Given the description of an element on the screen output the (x, y) to click on. 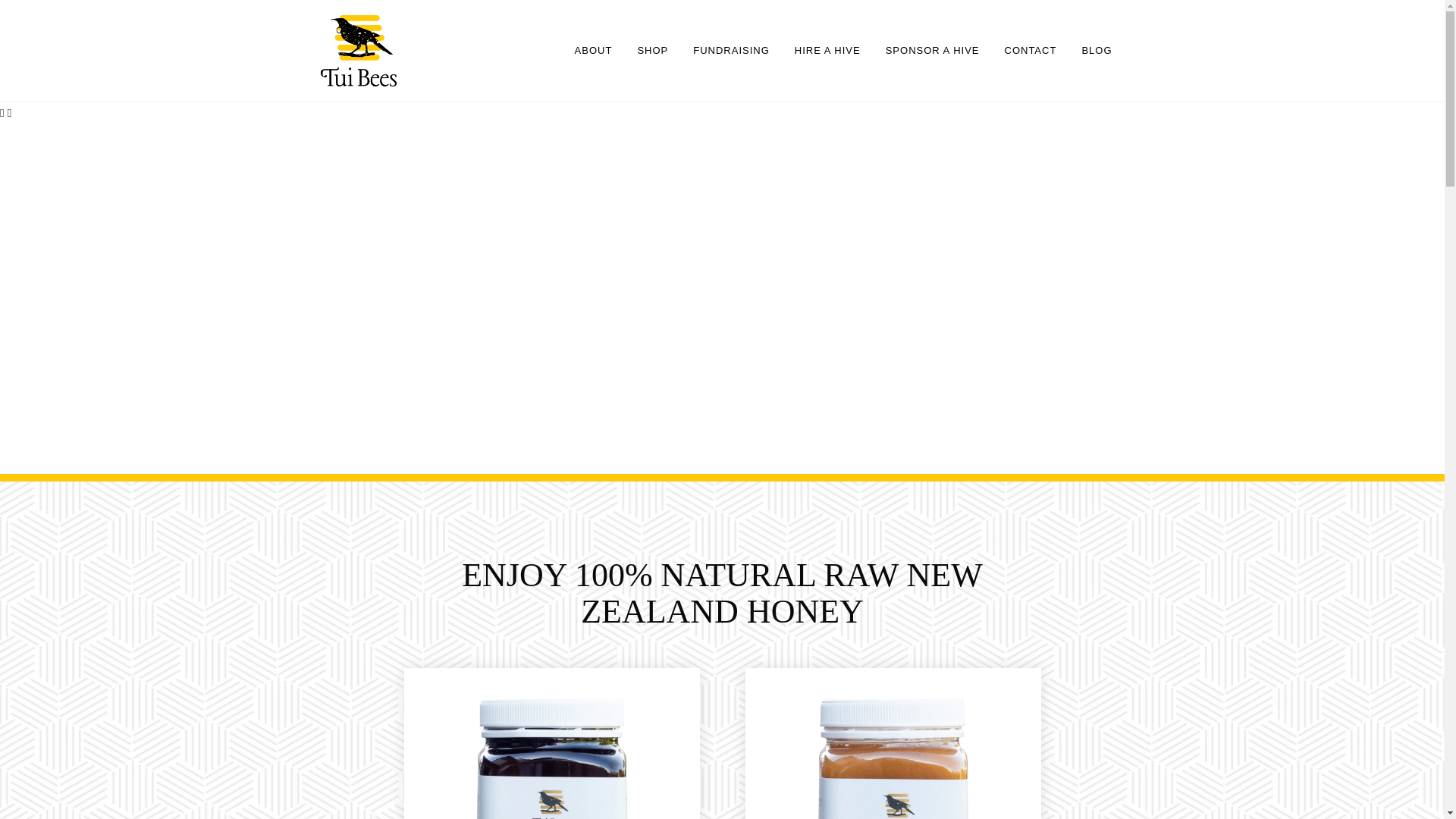
Blend-500gm-Front (892, 758)
TuiBees-Logo-Main (358, 50)
FUNDRAISING (731, 50)
HIRE A HIVE (827, 50)
CONTACT (1029, 50)
SPONSOR A HIVE (932, 50)
ABOUT (593, 50)
BLOG (1096, 50)
Manuka-500gm-Front (551, 758)
SHOP (651, 50)
